Given the description of an element on the screen output the (x, y) to click on. 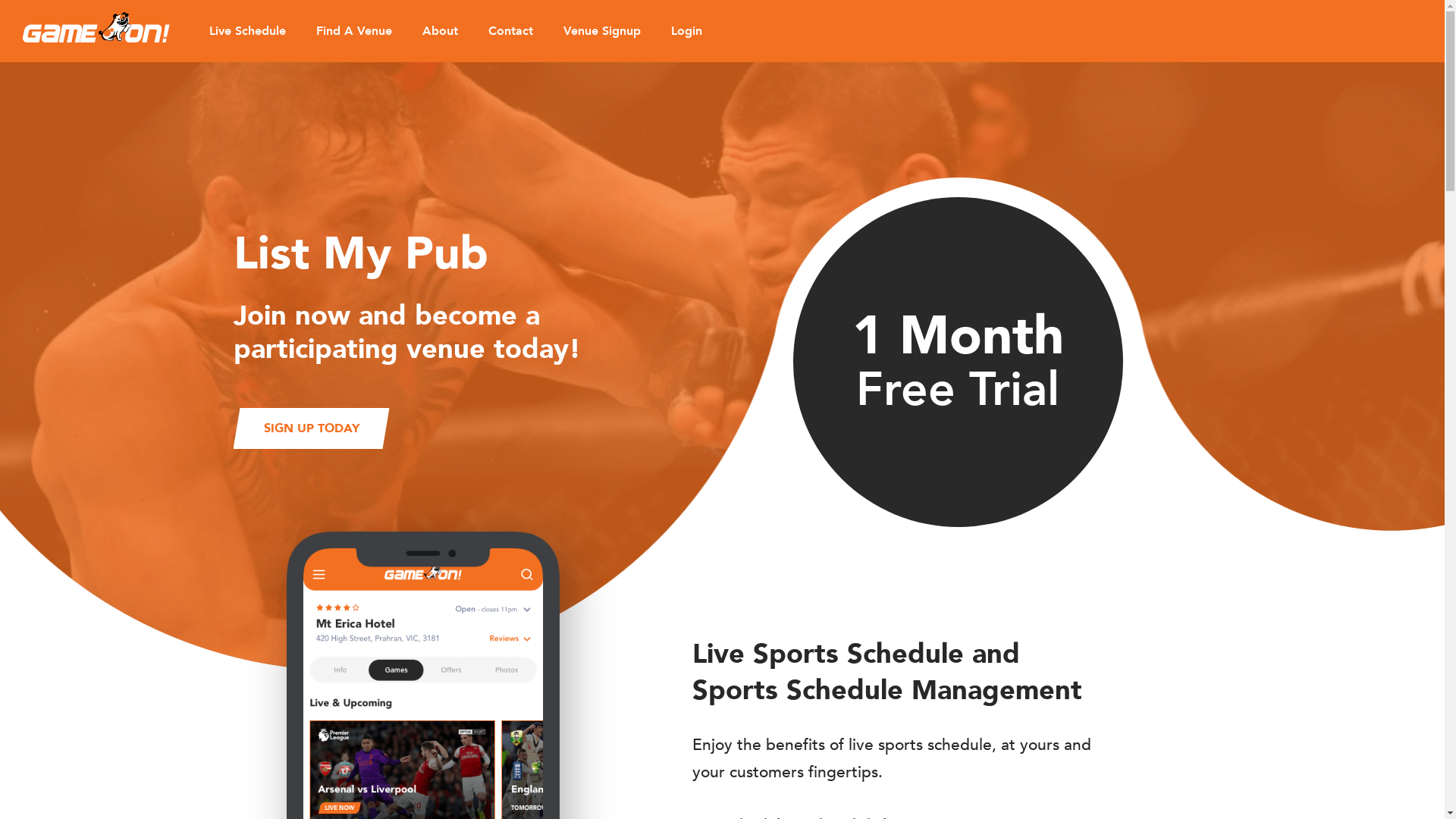
Login Element type: text (686, 30)
Contact Element type: text (510, 30)
Venue Signup Element type: text (601, 30)
About Element type: text (440, 30)
SIGN UP TODAY Element type: text (311, 427)
Find A Venue Element type: text (354, 30)
Live Schedule Element type: text (247, 30)
Game On Home page Element type: hover (95, 27)
